Given the description of an element on the screen output the (x, y) to click on. 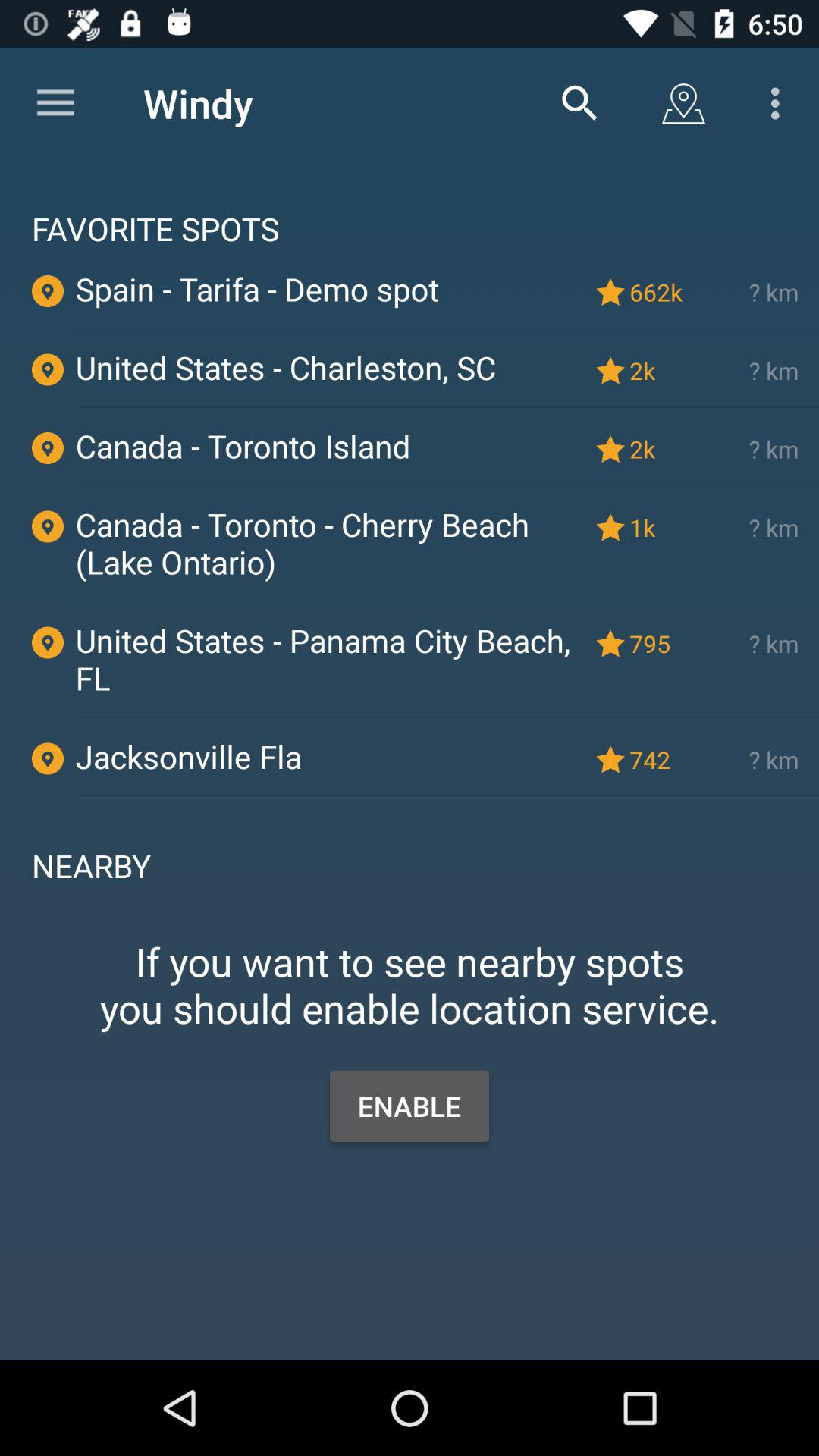
tap the item above nearby icon (448, 795)
